Given the description of an element on the screen output the (x, y) to click on. 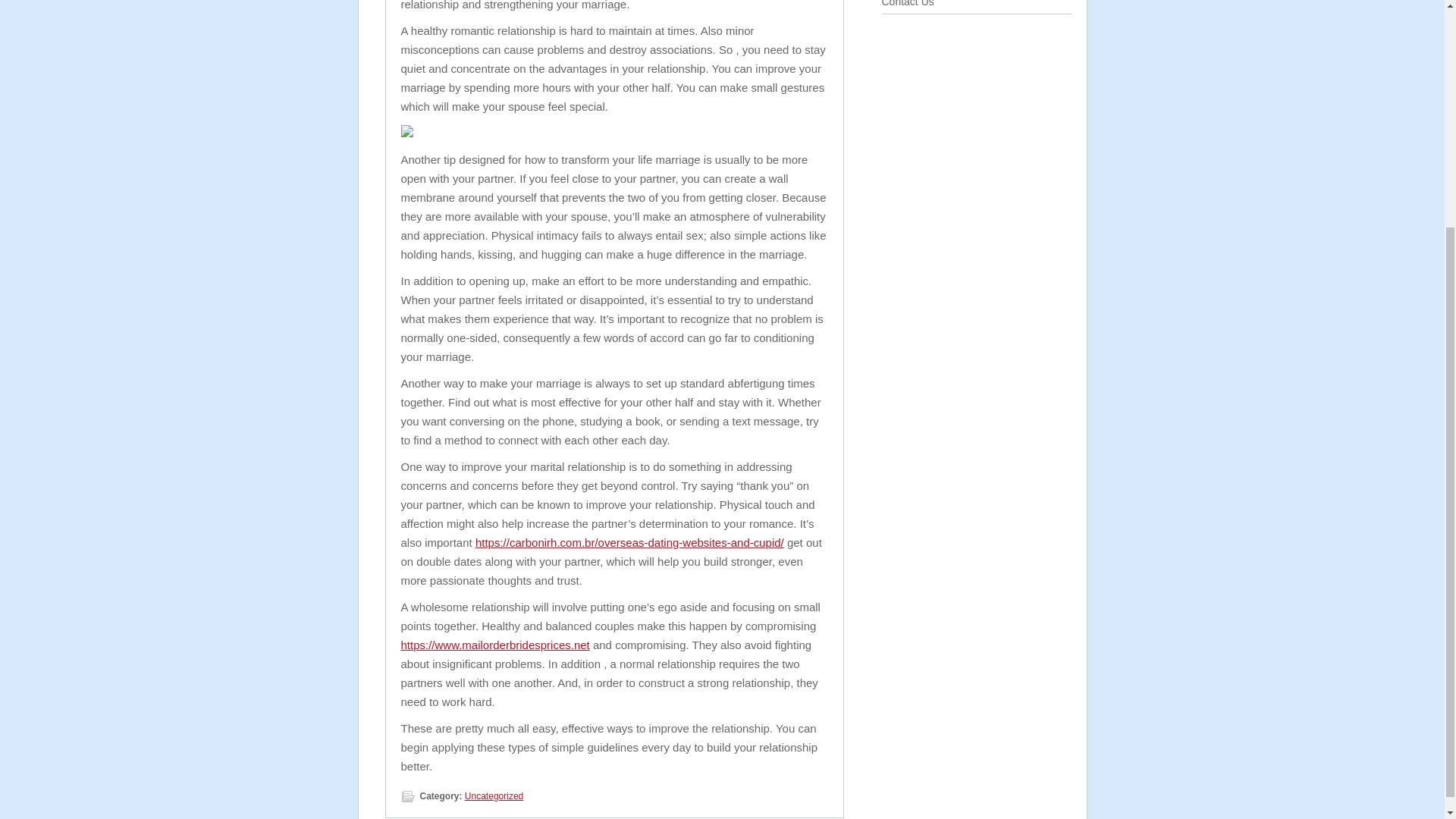
Contact Us (906, 3)
Uncategorized (493, 796)
